Given the description of an element on the screen output the (x, y) to click on. 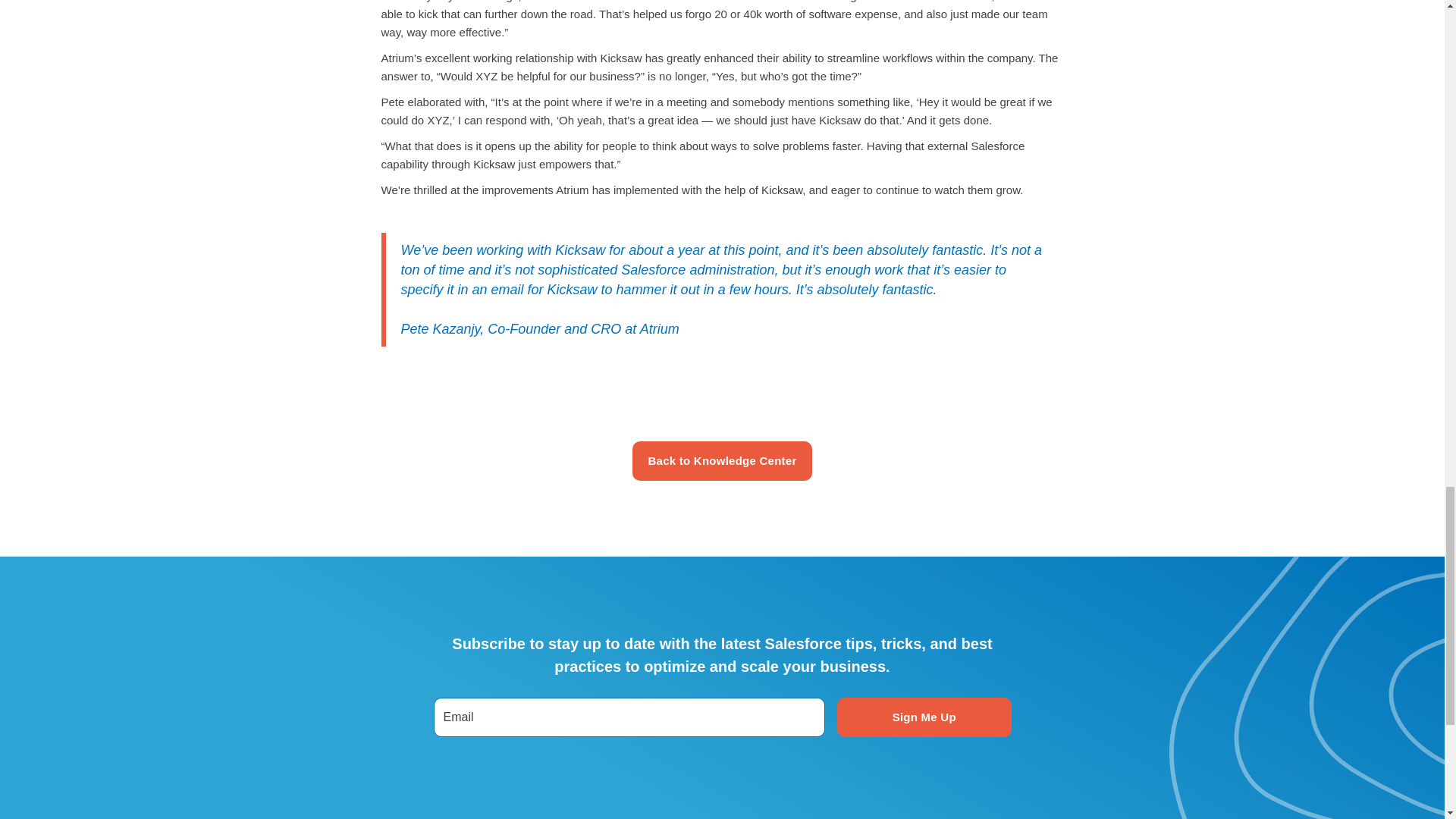
Back to Knowledge Center (720, 460)
Sign Me Up (924, 717)
Sign Me Up (924, 717)
